Given the description of an element on the screen output the (x, y) to click on. 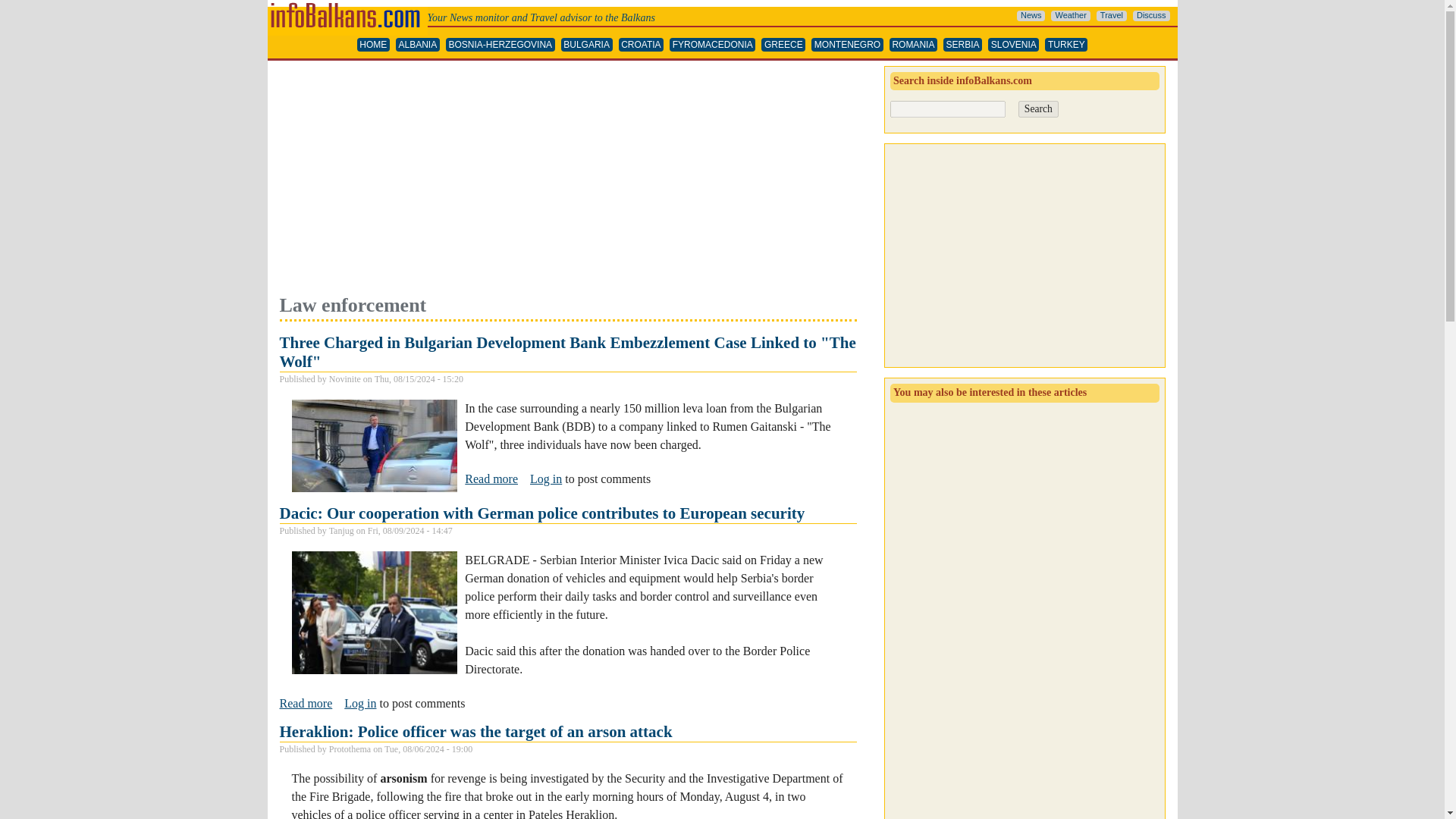
SLOVENIA (1013, 44)
ALBANIA (417, 44)
Discuss (1151, 15)
GREECE (783, 44)
BULGARIA (586, 44)
News (1030, 15)
